Given the description of an element on the screen output the (x, y) to click on. 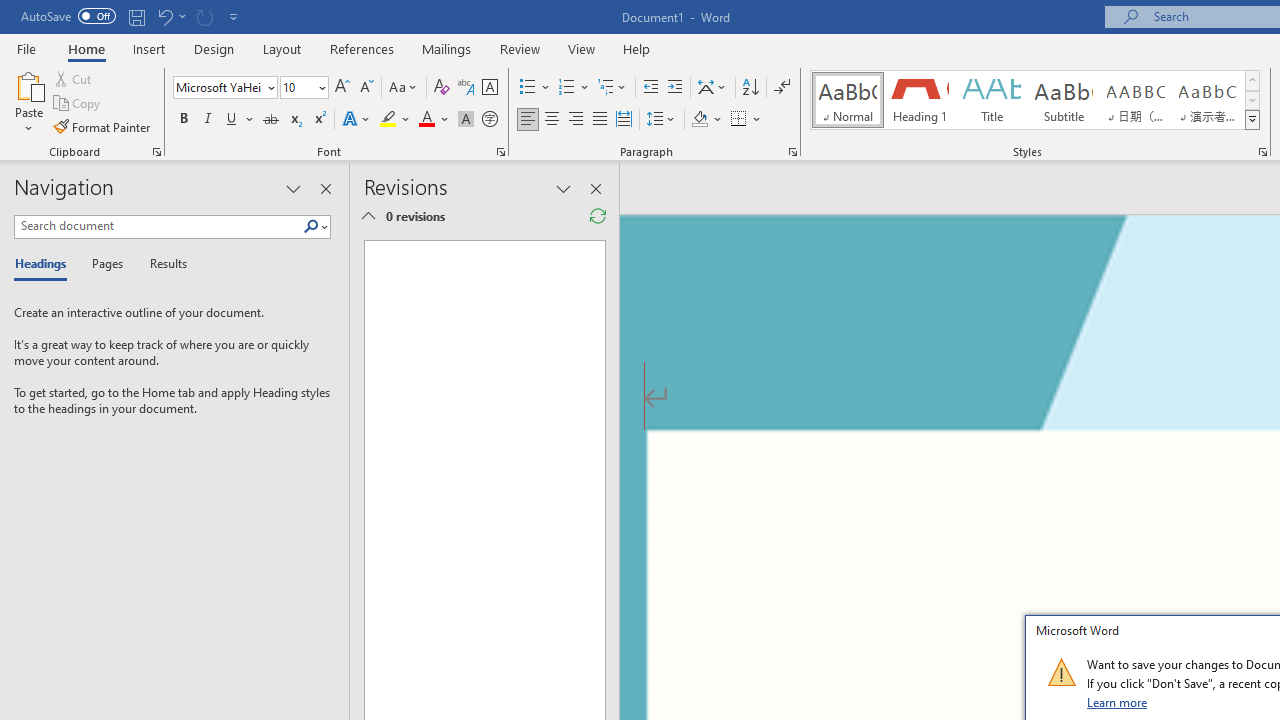
Show/Hide Editing Marks (781, 87)
Office Clipboard... (156, 151)
Font Color Red (426, 119)
Text Highlight Color (395, 119)
Character Shading (465, 119)
Clear Formatting (442, 87)
Search (315, 227)
Home (86, 48)
Grow Font (342, 87)
Font Color (434, 119)
Bullets (527, 87)
More Options (757, 119)
Mailings (447, 48)
Paste (28, 102)
